Given the description of an element on the screen output the (x, y) to click on. 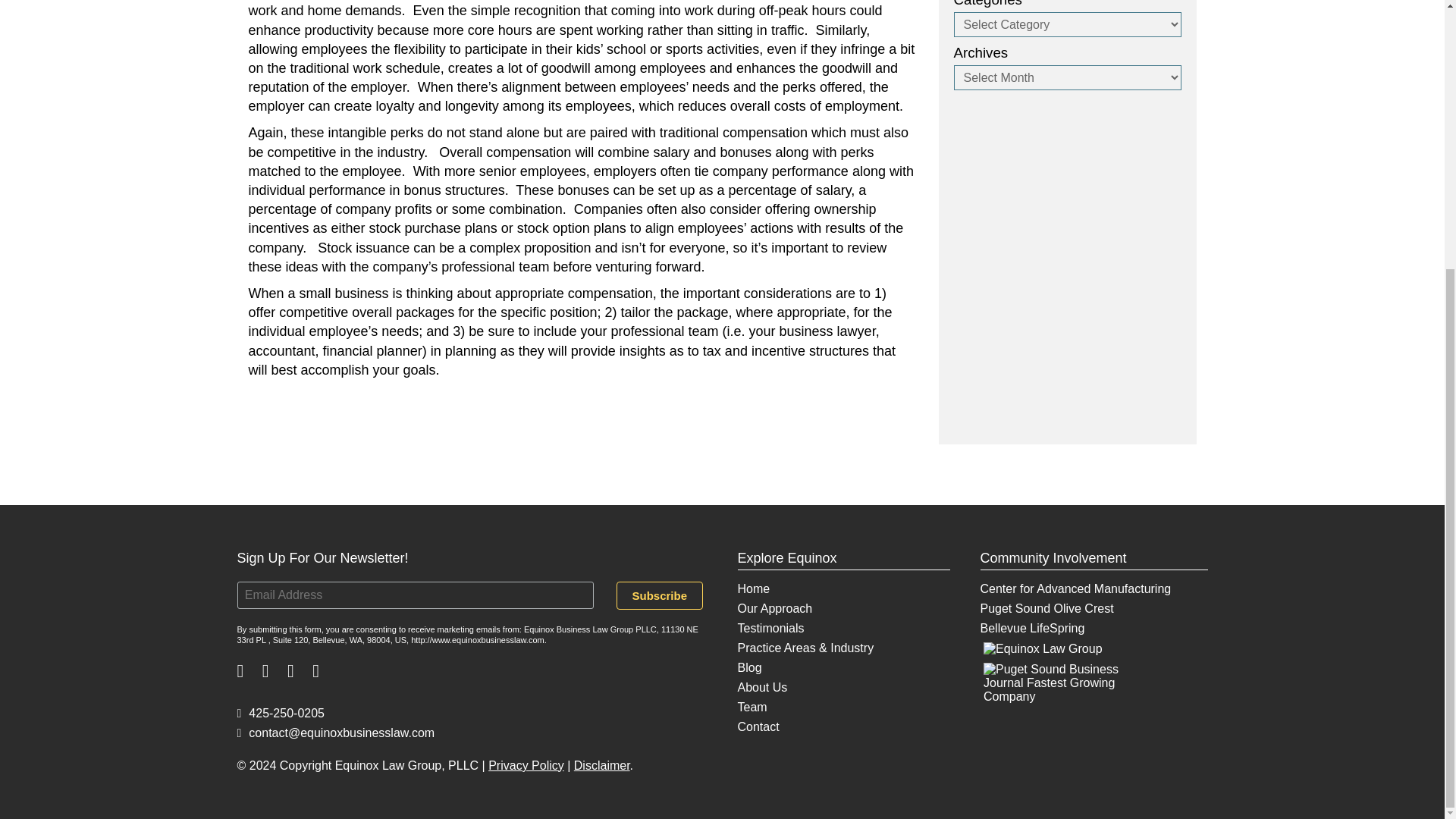
425-250-0205 (279, 712)
Our Approach (774, 608)
About Us (761, 686)
Home (753, 588)
Disclaimer (601, 765)
Blog (748, 667)
Subscribe (659, 595)
Privacy Policy (525, 765)
Subscribe (659, 595)
Testimonials (769, 627)
